Given the description of an element on the screen output the (x, y) to click on. 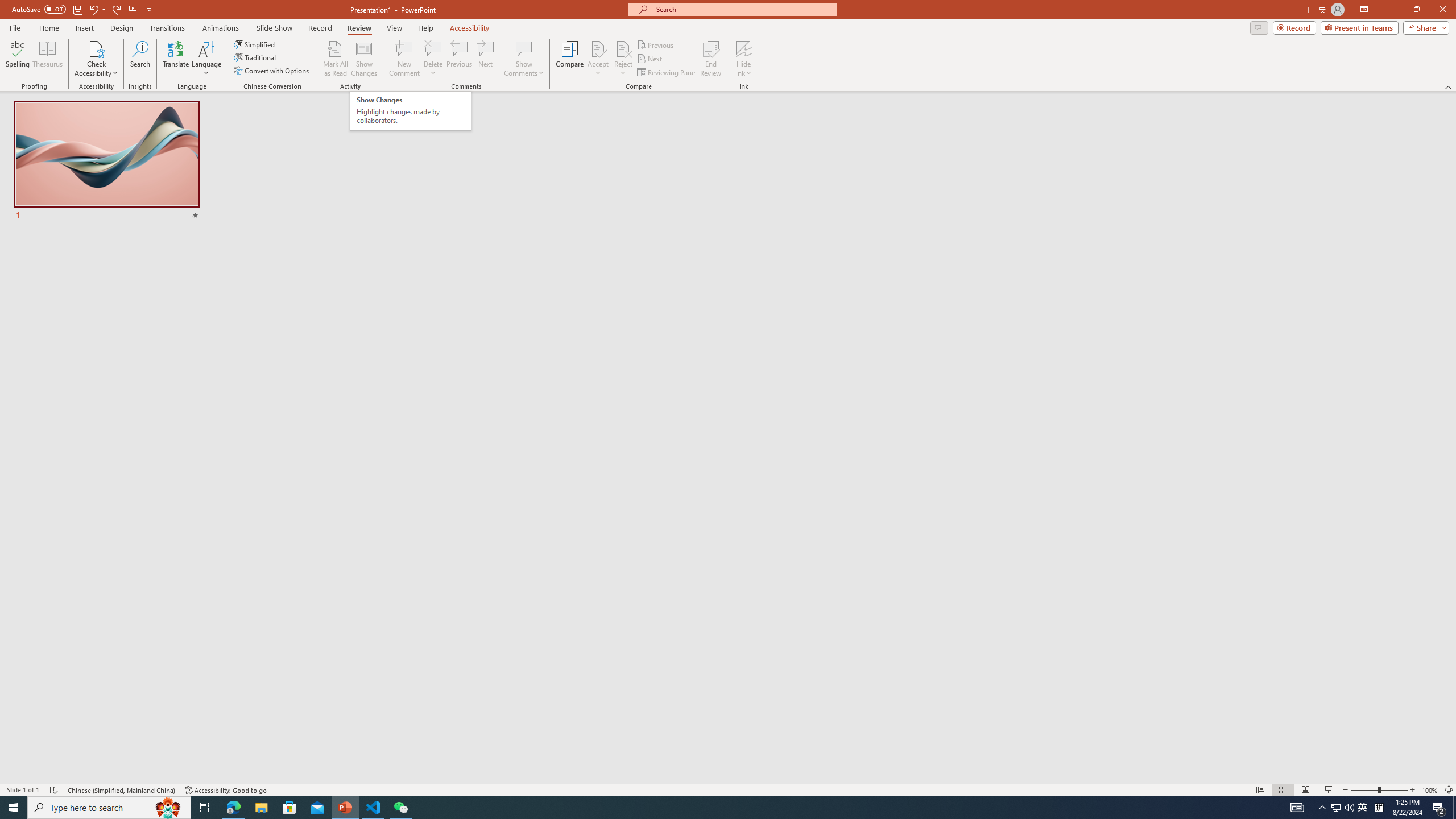
Reviewing Pane (666, 72)
Convert with Options... (272, 69)
Reject Change (622, 48)
Thesaurus... (47, 58)
Zoom 100% (1430, 790)
